Given the description of an element on the screen output the (x, y) to click on. 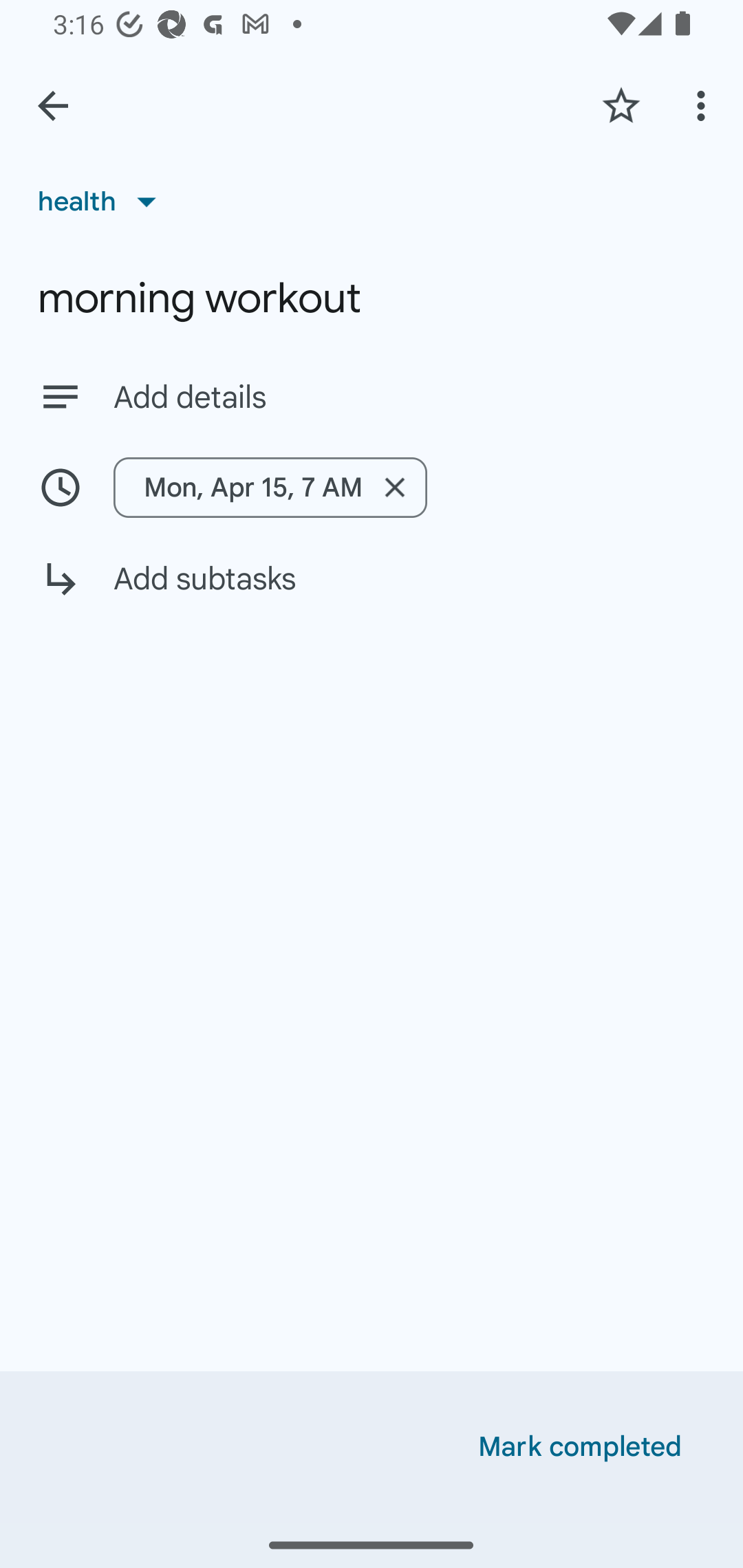
Back (53, 105)
Add star (620, 105)
More options (704, 105)
health List, health selected, 1 of 3 (103, 201)
morning workout (371, 298)
Add details (371, 396)
Add details (409, 397)
Mon, Apr 15, 7 AM Remove date/time (371, 487)
Mon, Apr 15, 7 AM Remove date/time (270, 487)
Add subtasks (371, 593)
Mark completed (580, 1446)
